Given the description of an element on the screen output the (x, y) to click on. 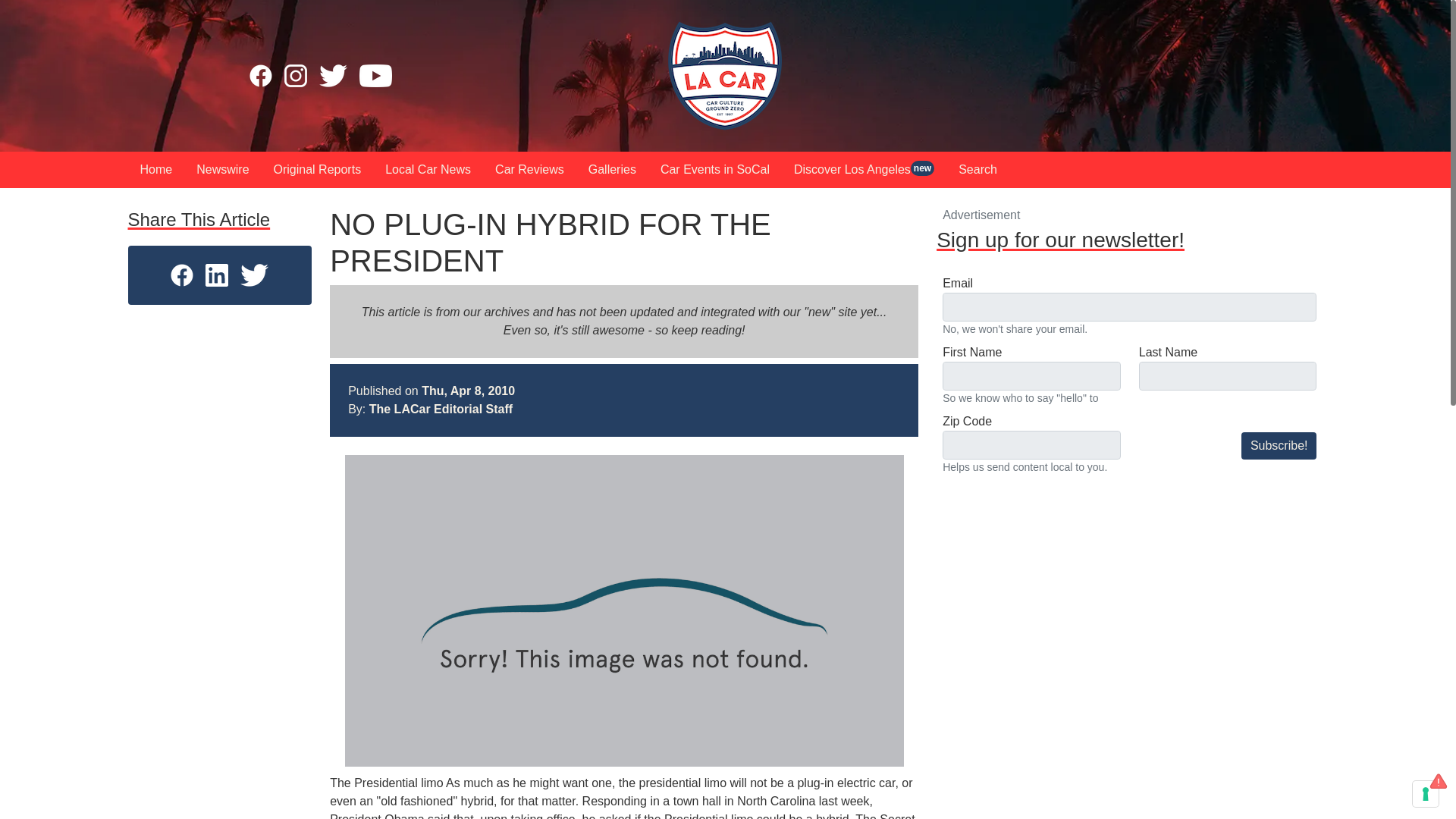
Car Events in SoCal (714, 169)
Galleries (611, 169)
Discover Los Angelesnew (863, 169)
Search (977, 169)
Car Reviews (529, 169)
Subscribe! (1279, 445)
Original Reports (318, 169)
Local Car News (427, 169)
Newswire (222, 169)
Home (156, 169)
